Given the description of an element on the screen output the (x, y) to click on. 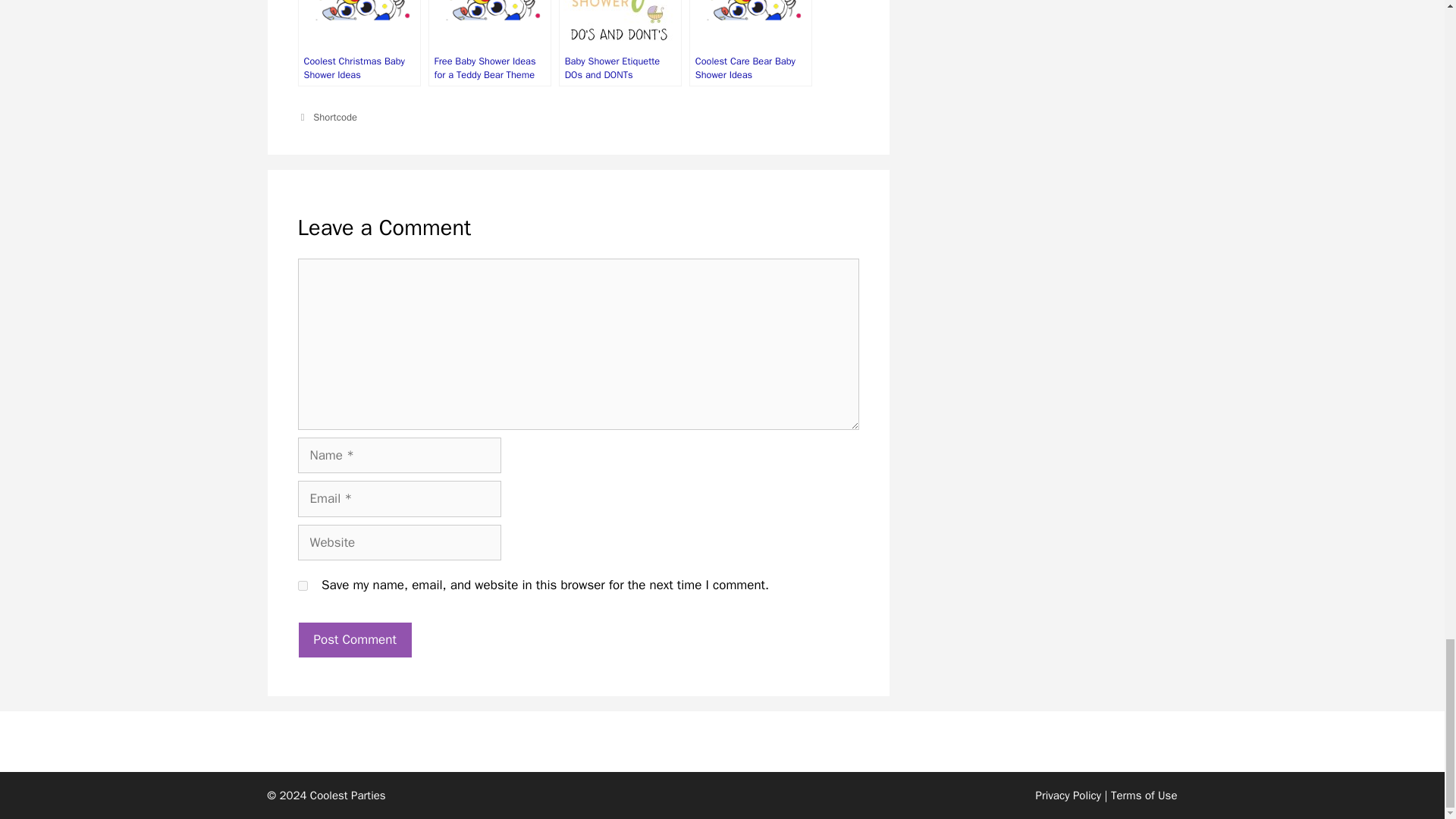
Shortcode (334, 116)
Coolest Care Bear Baby Shower Ideas (750, 43)
Coolest Care Bear Baby Shower Ideas (750, 43)
Baby Shower Etiquette DOs and DONTs (620, 43)
Free Baby Shower Ideas for a Teddy Bear Theme (489, 43)
Post Comment (354, 639)
yes (302, 585)
Baby Shower Etiquette DOs and DONTs (620, 43)
Privacy Policy (1068, 795)
Coolest Christmas Baby Shower Ideas (358, 43)
